Given the description of an element on the screen output the (x, y) to click on. 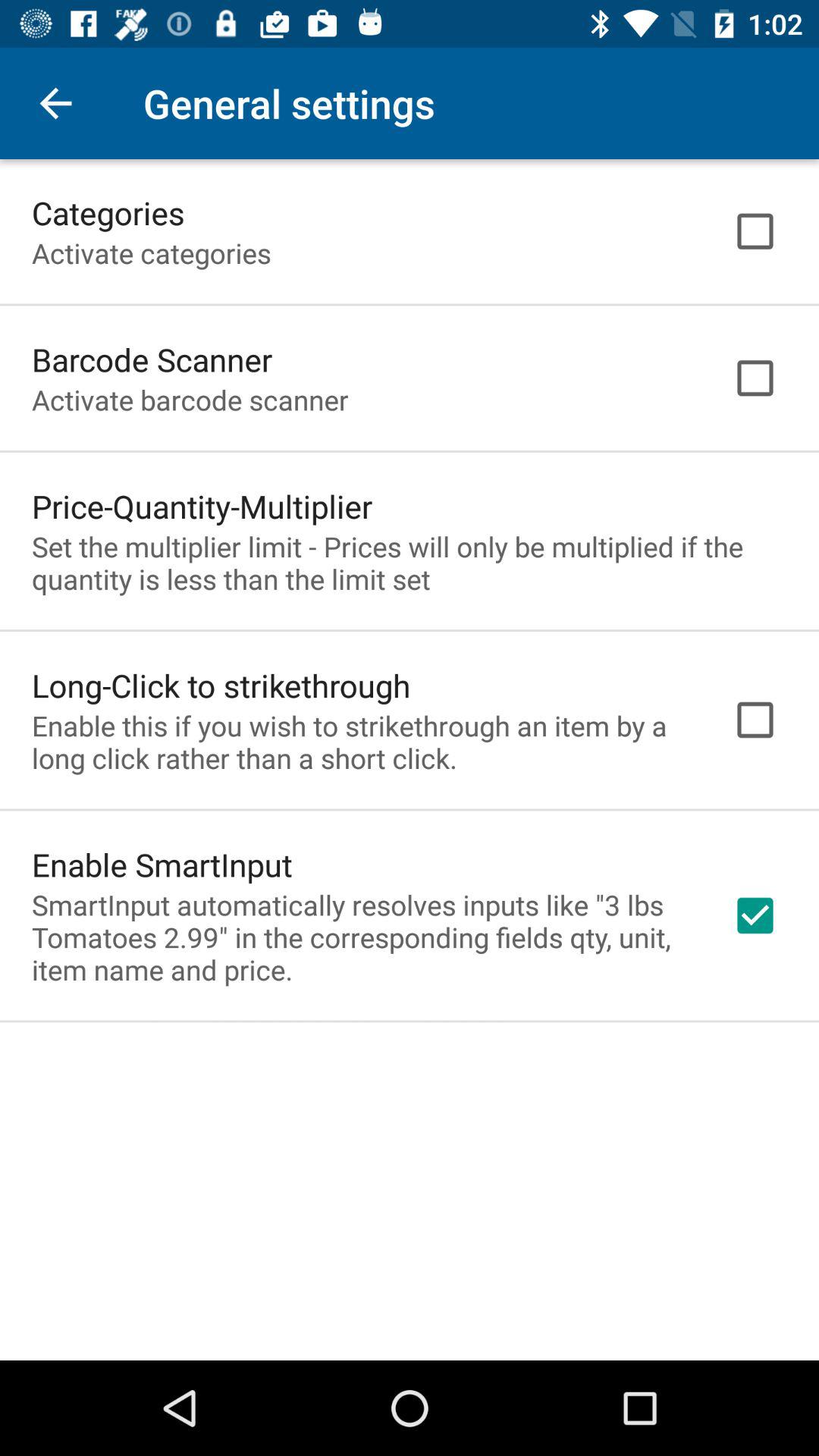
tap icon above enable smartinput (361, 741)
